Given the description of an element on the screen output the (x, y) to click on. 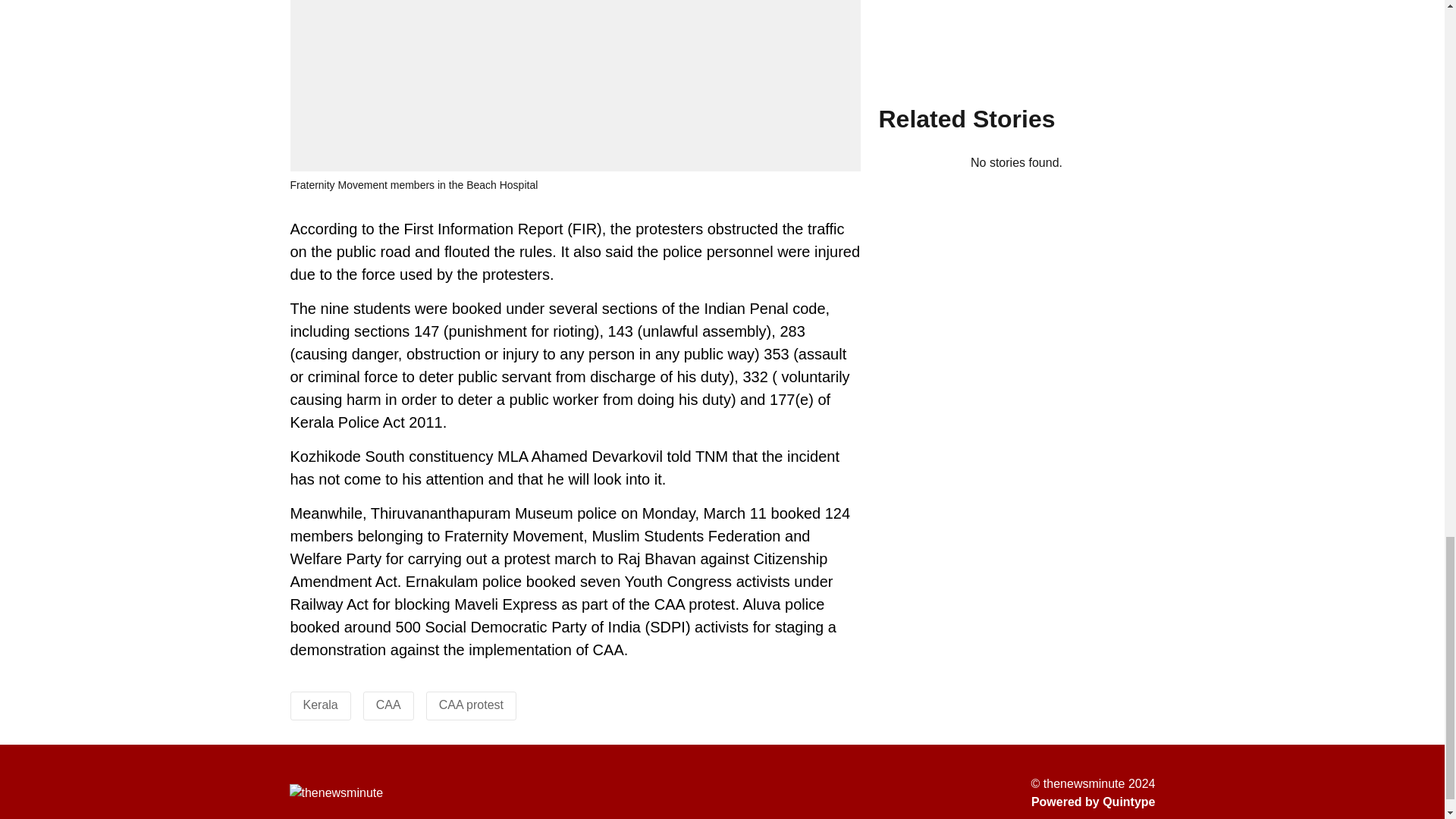
CAA protest (471, 704)
Kerala (319, 704)
Powered by Quintype (1093, 802)
CAA (388, 704)
